Given the description of an element on the screen output the (x, y) to click on. 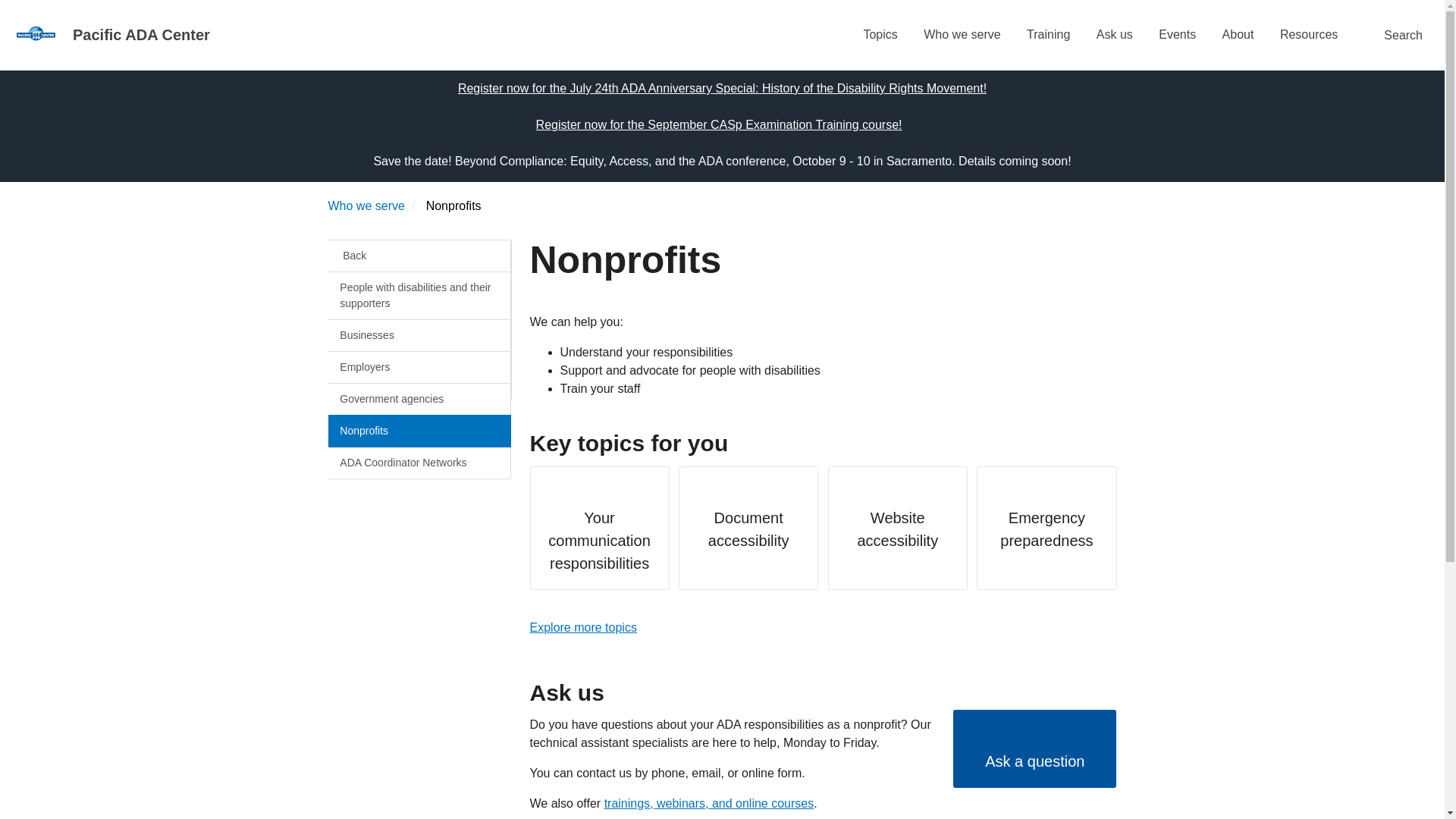
Who we serve (961, 34)
Topics (879, 34)
Resources (1308, 34)
Home (146, 34)
Ask us (1114, 34)
About (1238, 34)
Training (1047, 34)
Home (36, 34)
Search (1394, 35)
Who we serve (365, 205)
Who we serve (365, 205)
Search (1394, 35)
Pacific ADA Center (146, 34)
Home (36, 33)
